Given the description of an element on the screen output the (x, y) to click on. 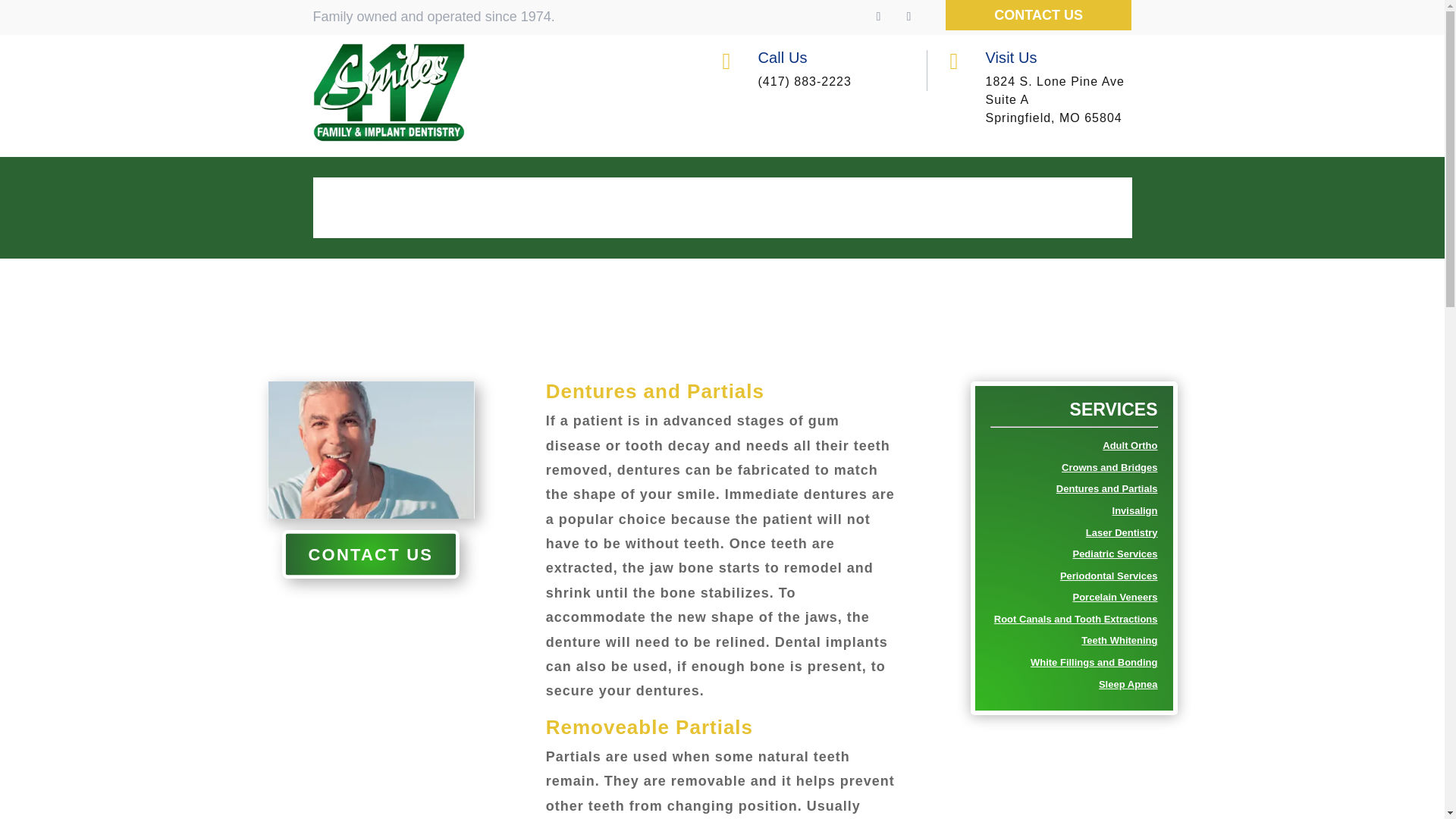
Follow on Youtube (908, 16)
417-smiles-logo-mobile (388, 91)
A man enjoys his apple after receiving dentures (370, 449)
Follow on Facebook (877, 16)
Call Us (783, 57)
